Given the description of an element on the screen output the (x, y) to click on. 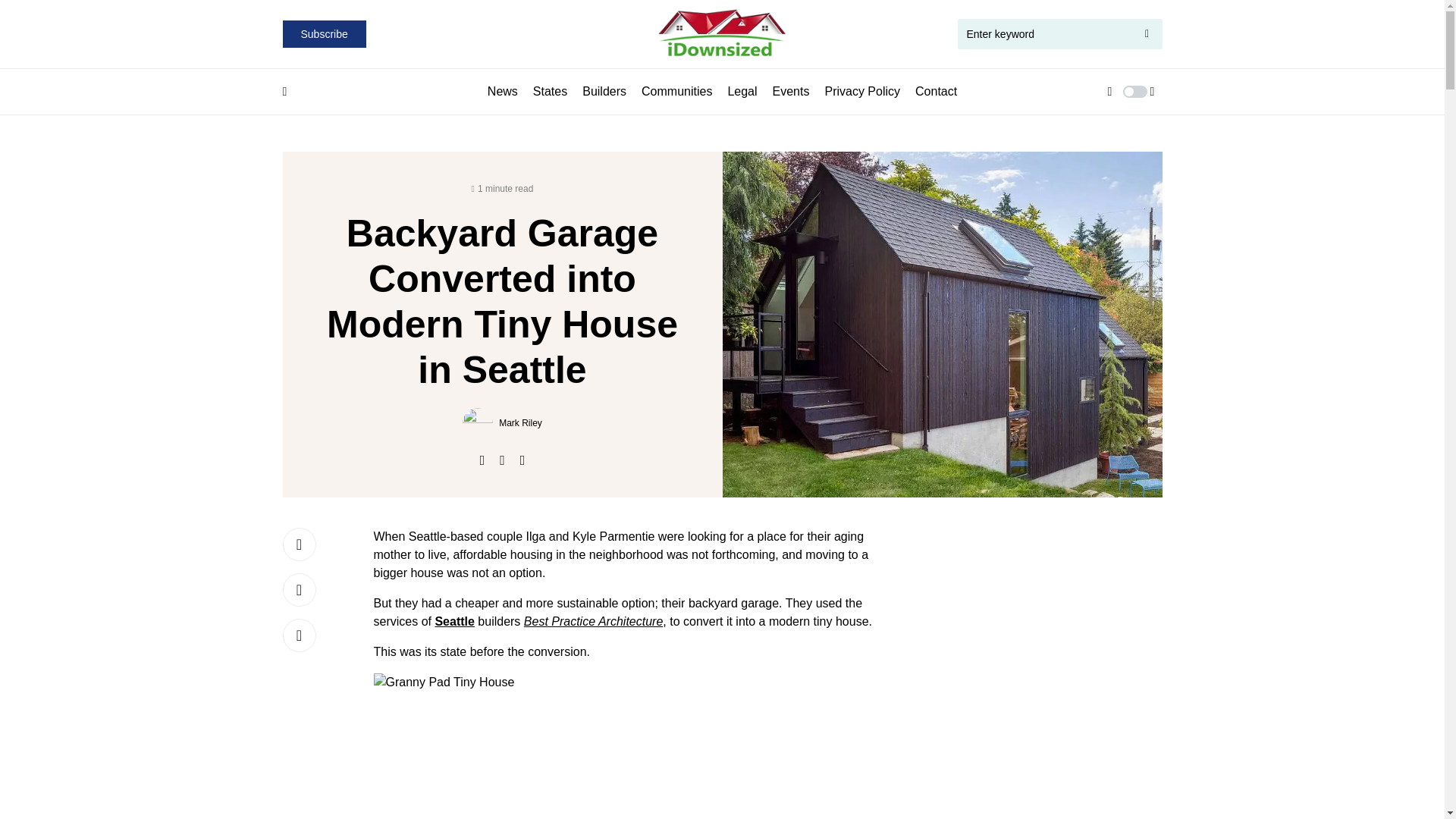
Communities (676, 91)
Builders (604, 91)
Contact (935, 91)
Privacy Policy (861, 91)
Granny Pad Tiny House (630, 746)
Subscribe (323, 33)
